Given the description of an element on the screen output the (x, y) to click on. 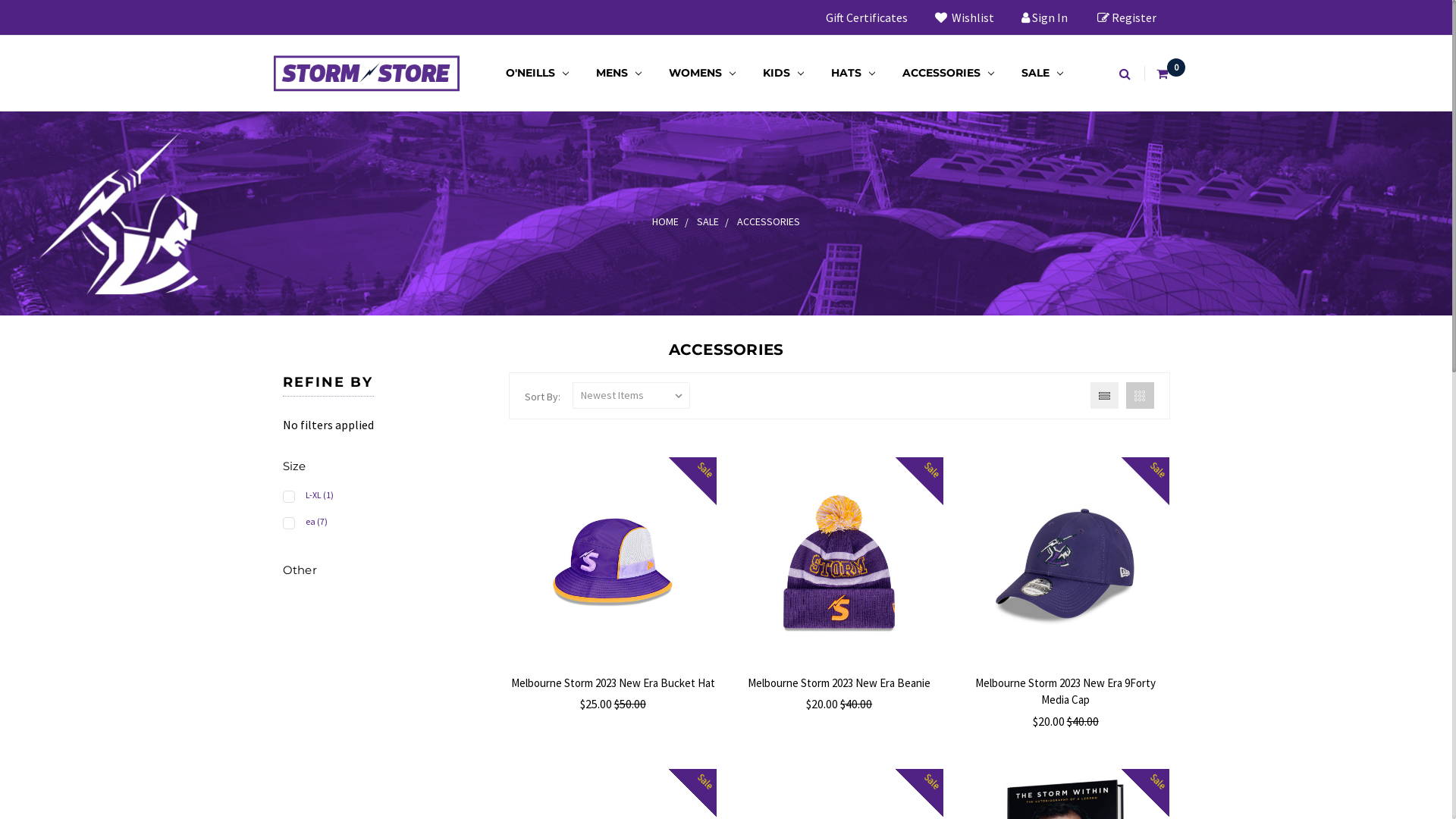
Melbourne Storm 2023 New Era 9Forty Media Cap Element type: text (1065, 691)
HOME Element type: text (665, 221)
SALE Element type: text (1041, 72)
Melbourne Storm 2023 New Era 9Forty Media Cap Element type: hover (1065, 561)
Melbourne Storm 2023 New Era Beanie Element type: text (838, 682)
L-XL (1) Element type: text (386, 496)
Gift Certificates Element type: text (865, 17)
KIDS Element type: text (783, 72)
Sign In Element type: text (1043, 17)
Melbourne Storm 2023 New Era Beanie Element type: hover (838, 561)
MENS Element type: text (618, 72)
O'NEILLS Element type: text (536, 72)
0 Element type: text (1163, 72)
Melbourne Storm 2023 New Era Bucket Hat Element type: hover (612, 561)
ACCESSORIES Element type: text (768, 221)
SALE Element type: text (707, 221)
Melbourne Storm 2023 New Era Bucket Hat Element type: text (613, 682)
Grid Element type: text (1139, 395)
ACCESSORIES Element type: text (947, 72)
ea (7) Element type: text (386, 522)
Register Element type: text (1125, 17)
WOMENS Element type: text (702, 72)
HATS Element type: text (852, 72)
Wishlist Element type: text (963, 17)
Storm Store Element type: hover (366, 72)
List Element type: text (1104, 395)
